Given the description of an element on the screen output the (x, y) to click on. 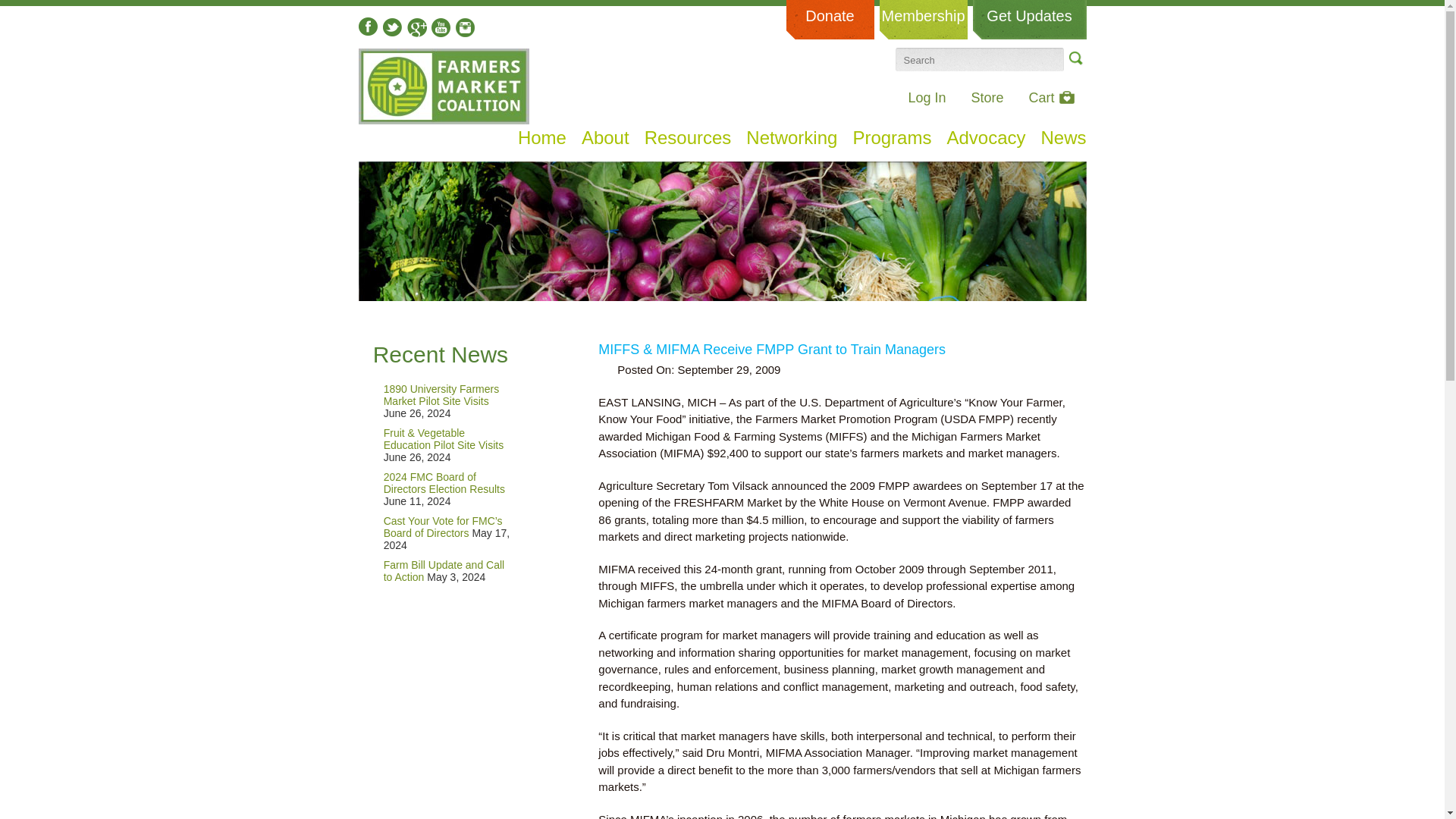
Store (987, 97)
Skip to content (385, 132)
News (1063, 137)
Donate (829, 19)
Search (1074, 58)
Log In (925, 97)
Get Updates (1029, 19)
Skip to content (385, 132)
Networking (791, 137)
Programs (891, 137)
Resources (688, 137)
Search (1074, 58)
Advocacy (985, 137)
Membership (923, 19)
Cart (1050, 97)
